Given the description of an element on the screen output the (x, y) to click on. 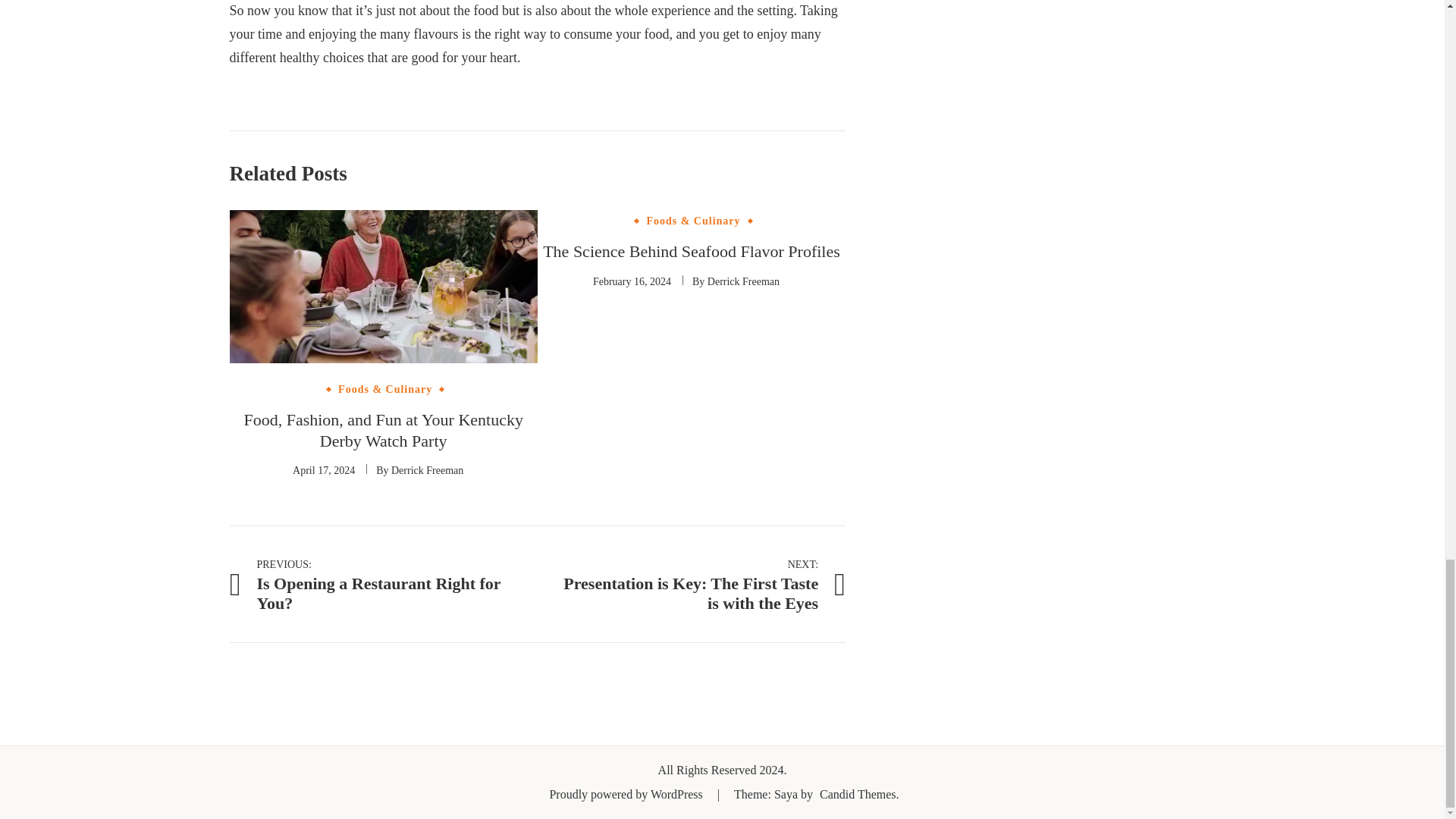
Derrick Freeman (742, 281)
Proudly powered by WordPress (626, 793)
Food, Fashion, and Fun at Your Kentucky Derby Watch Party (382, 430)
February 16, 2024 (631, 281)
The Science Behind Seafood Flavor Profiles (691, 583)
Derrick Freeman (691, 251)
April 17, 2024 (427, 470)
Candid Themes (323, 470)
